Given the description of an element on the screen output the (x, y) to click on. 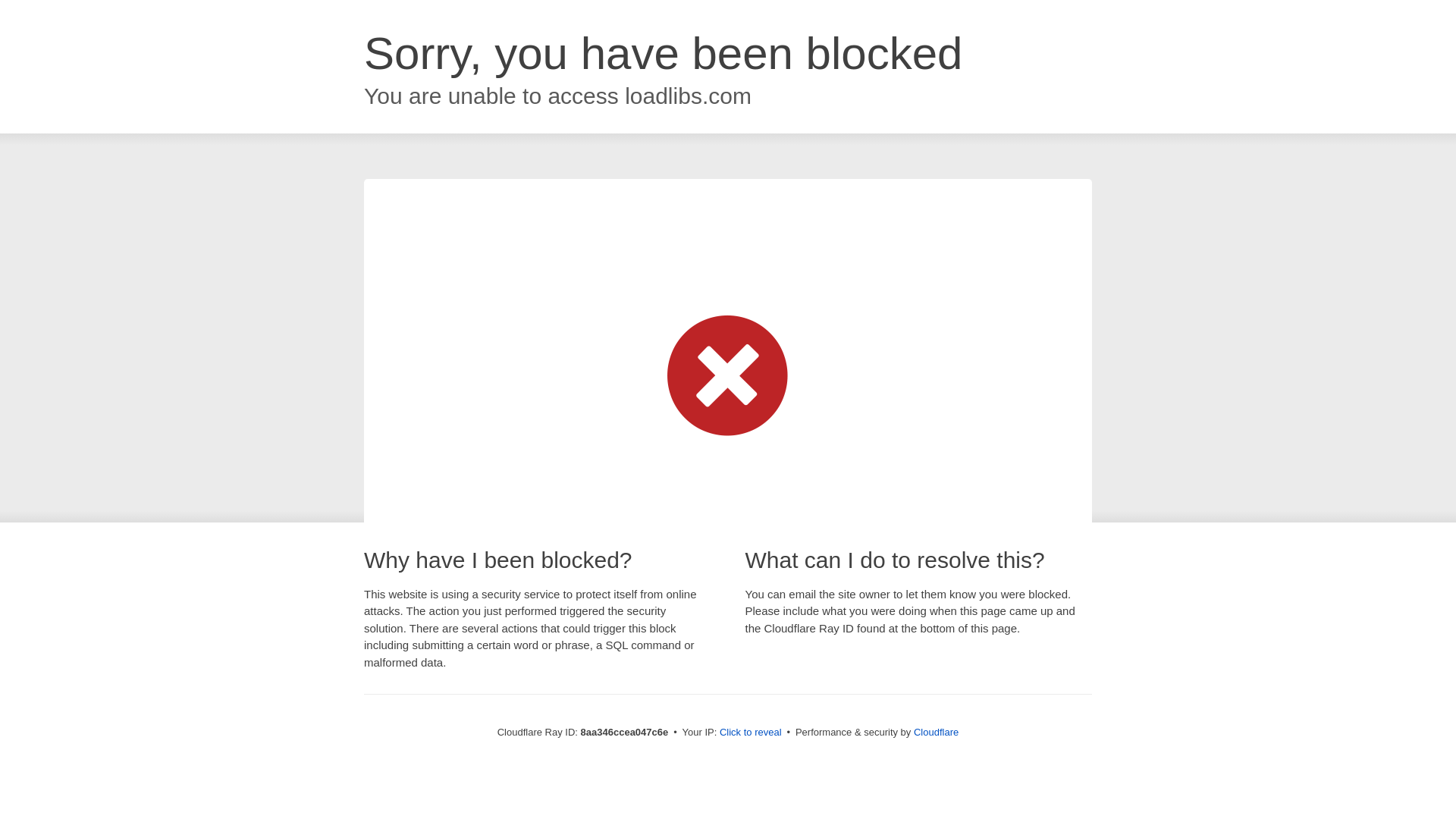
Click to reveal (750, 732)
Cloudflare (936, 731)
